Given the description of an element on the screen output the (x, y) to click on. 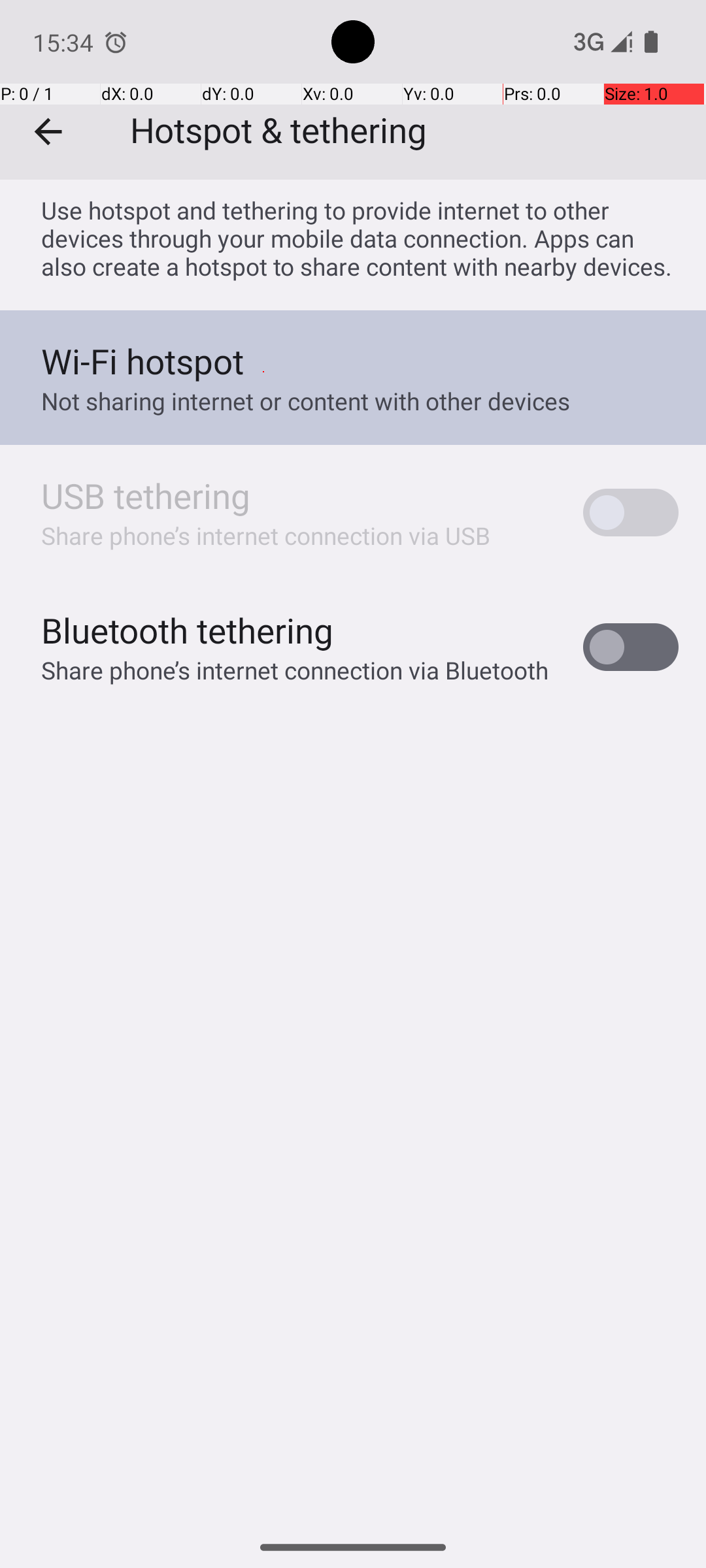
Use hotspot and tethering to provide internet to other devices through your mobile data connection. Apps can also create a hotspot to share content with nearby devices. Element type: android.widget.TextView (359, 237)
Wi‑Fi hotspot Element type: android.widget.TextView (142, 360)
Not sharing internet or content with other devices Element type: android.widget.TextView (305, 400)
USB tethering Element type: android.widget.TextView (145, 495)
Share phone’s internet connection via USB Element type: android.widget.TextView (265, 535)
Bluetooth tethering Element type: android.widget.TextView (187, 629)
Share phone’s internet connection via Bluetooth Element type: android.widget.TextView (294, 669)
